Given the description of an element on the screen output the (x, y) to click on. 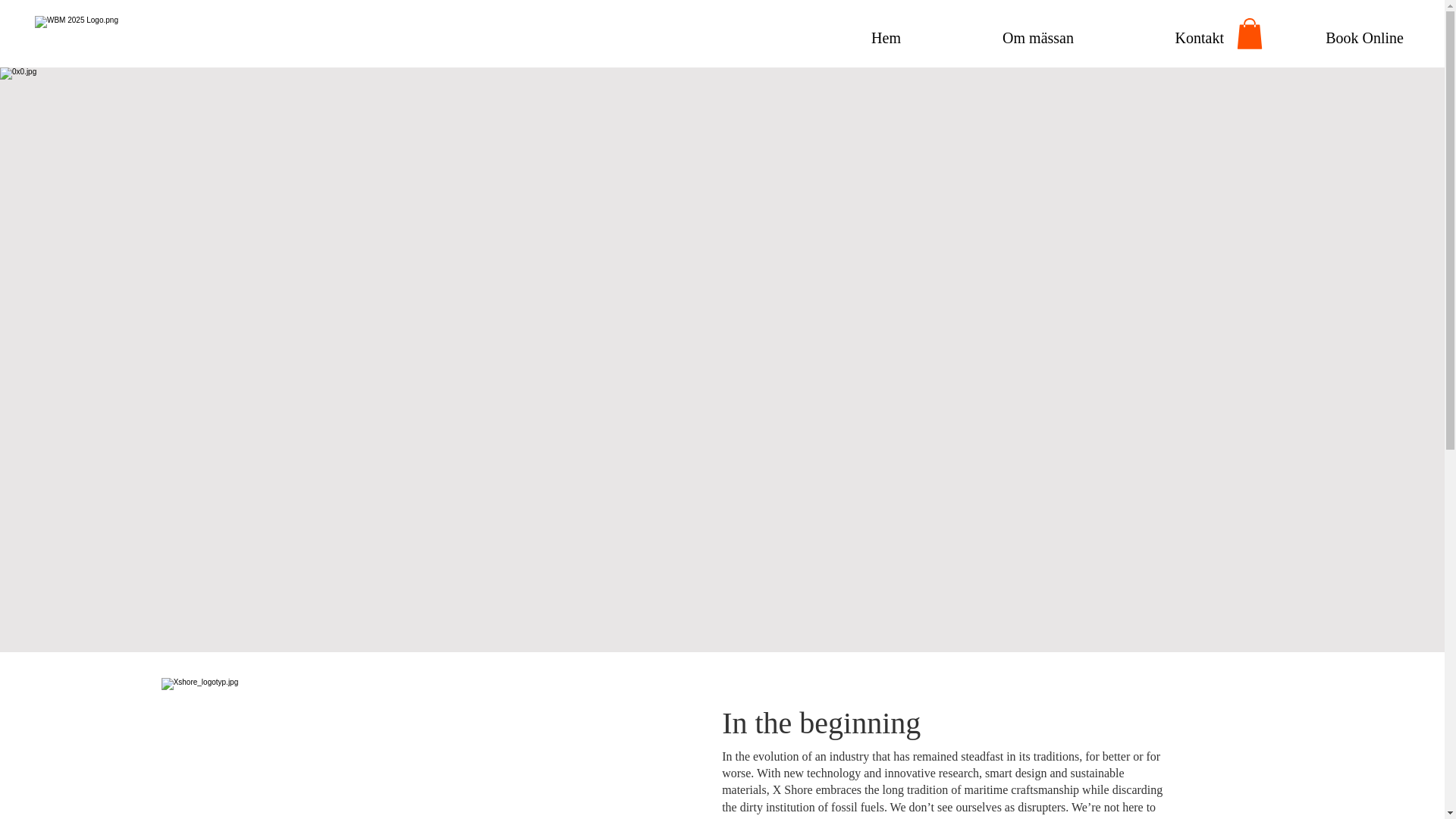
Hem (846, 37)
Kontakt (1159, 37)
Book Online (1324, 37)
